Given the description of an element on the screen output the (x, y) to click on. 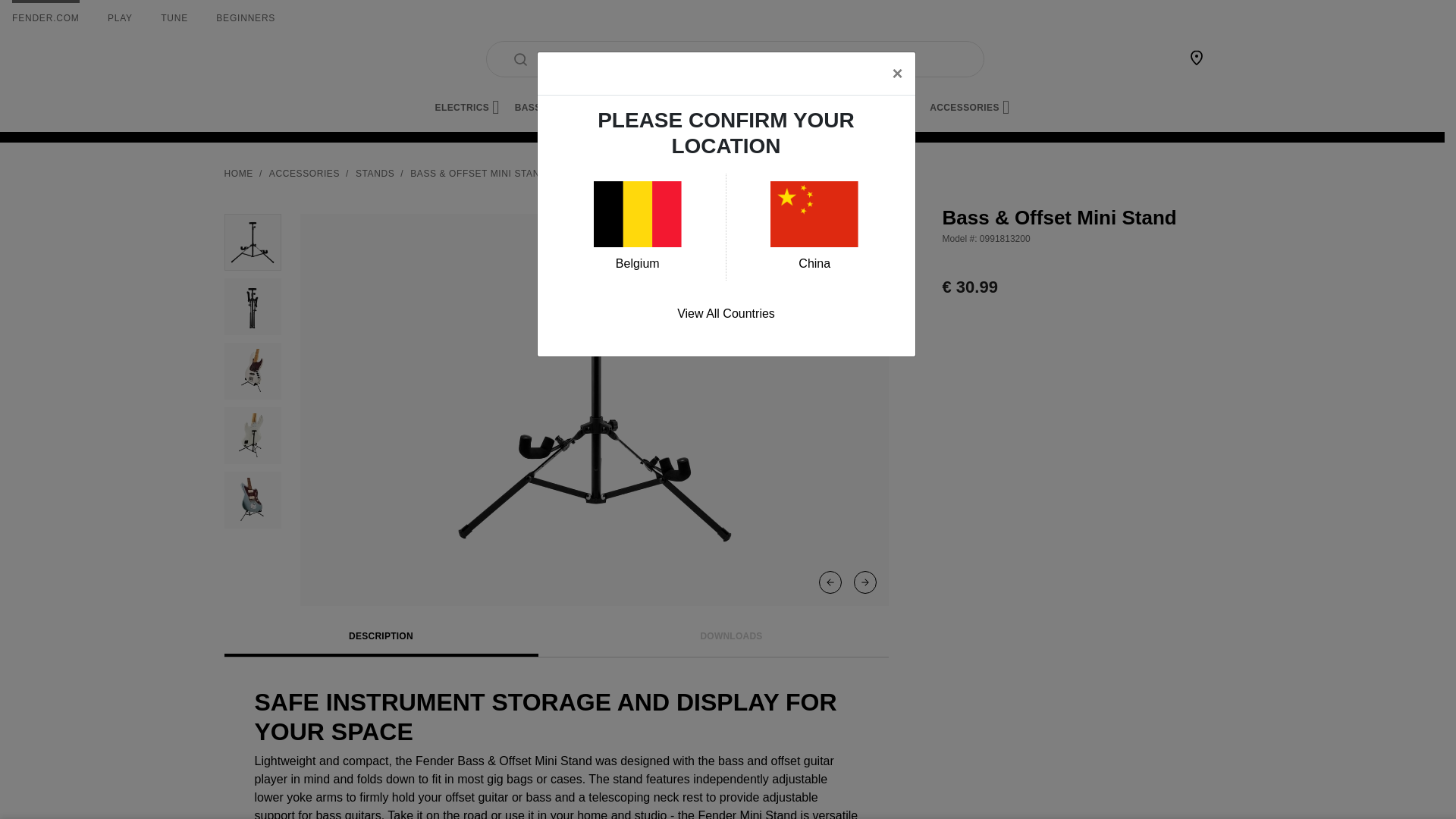
FENDER.COM (45, 18)
ELECTRICS (467, 107)
TUNE (173, 18)
BEGINNERS (245, 18)
Fender Home (261, 58)
PLAY (119, 18)
